Given the description of an element on the screen output the (x, y) to click on. 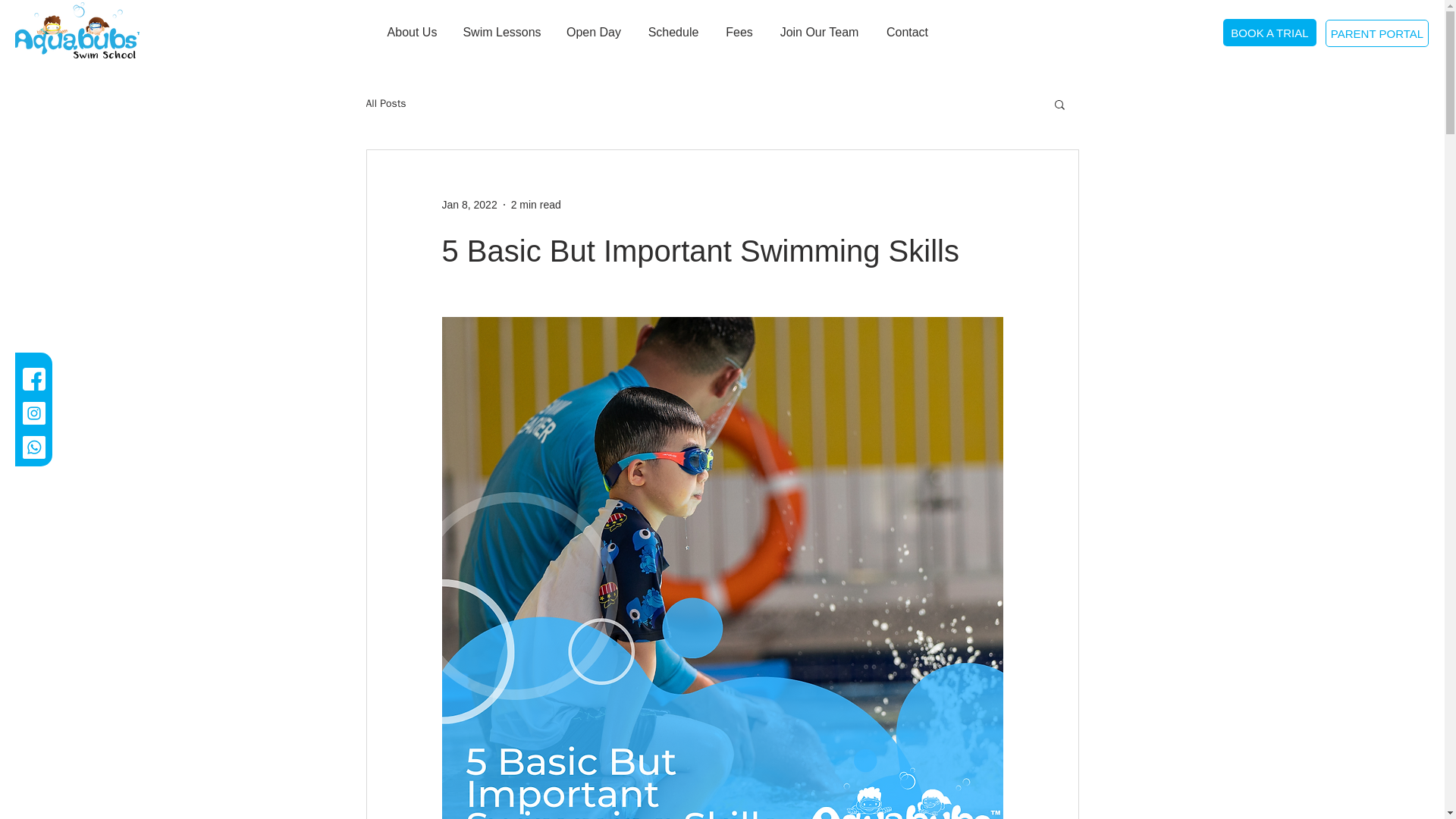
BOOK A TRIAL (1269, 31)
2 min read (535, 204)
Contact (907, 31)
Fees (740, 31)
Swim Lessons (501, 31)
PARENT PORTAL (1376, 32)
Jan 8, 2022 (468, 204)
Join Our Team (818, 31)
Schedule (672, 31)
All Posts (385, 103)
